Given the description of an element on the screen output the (x, y) to click on. 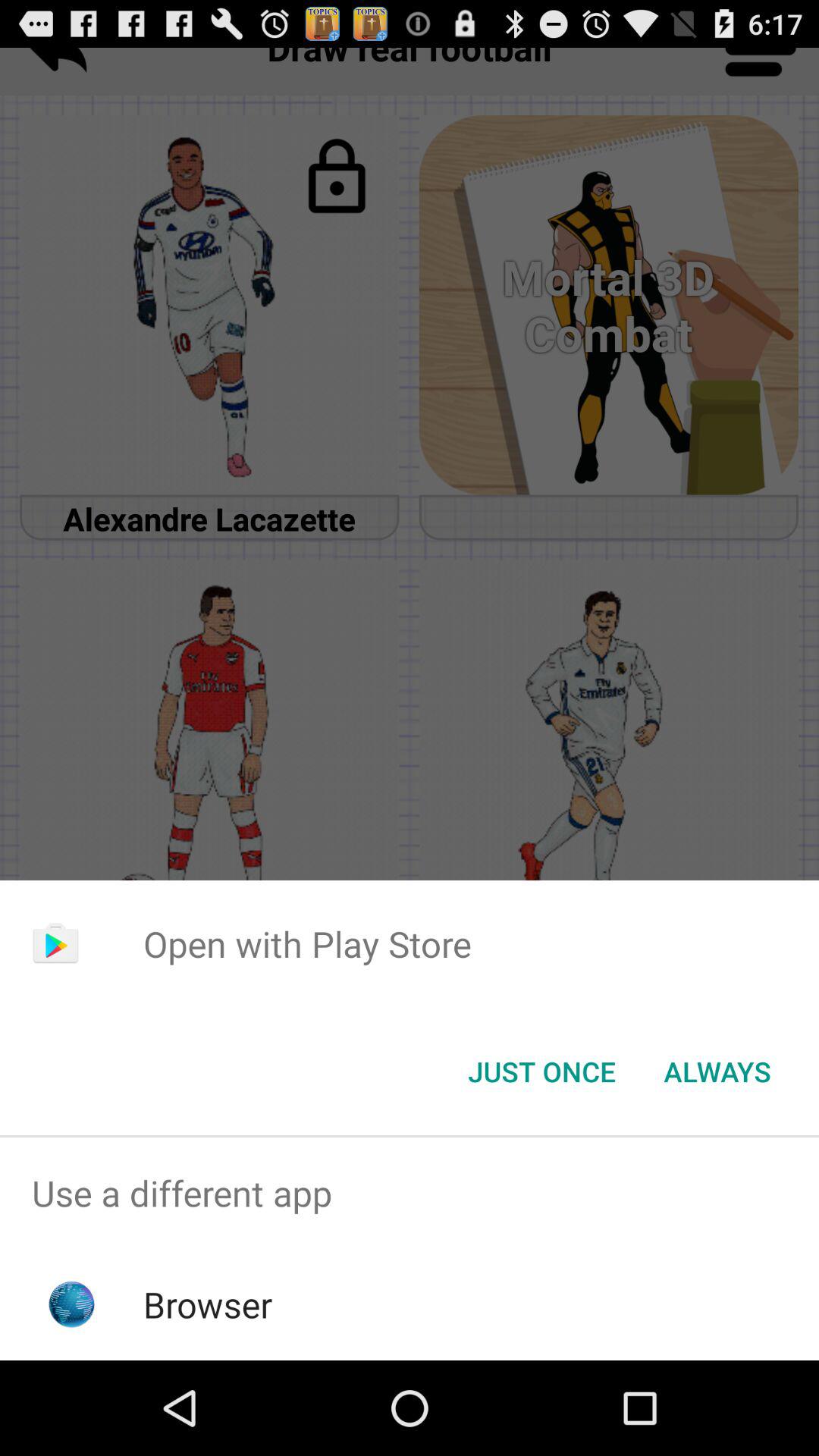
scroll until browser icon (207, 1304)
